Given the description of an element on the screen output the (x, y) to click on. 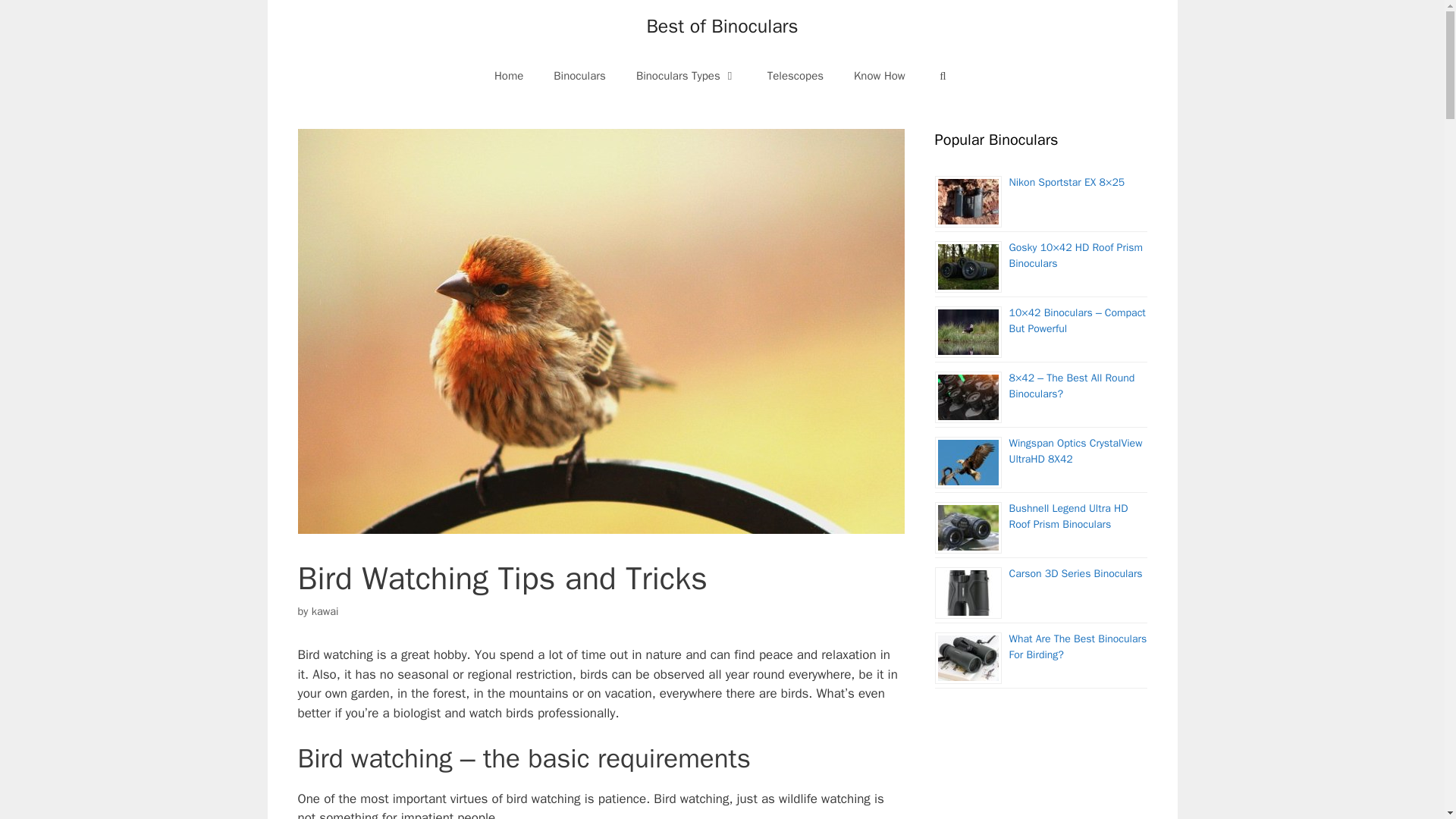
Best of Binoculars (721, 25)
Binoculars (579, 75)
What Are The Best Binoculars For Birding? (1078, 646)
Permalink to Carson 3D Series Binoculars (1075, 573)
Permalink to Bushnell Legend Ultra HD Roof Prism Binoculars (1067, 516)
Permalink to Wingspan Optics CrystalView UltraHD 8X42 (1075, 451)
Home (508, 75)
kawai (325, 611)
Carson 3D Series Binoculars (1075, 573)
Wingspan Optics CrystalView UltraHD 8X42 (1075, 451)
